Given the description of an element on the screen output the (x, y) to click on. 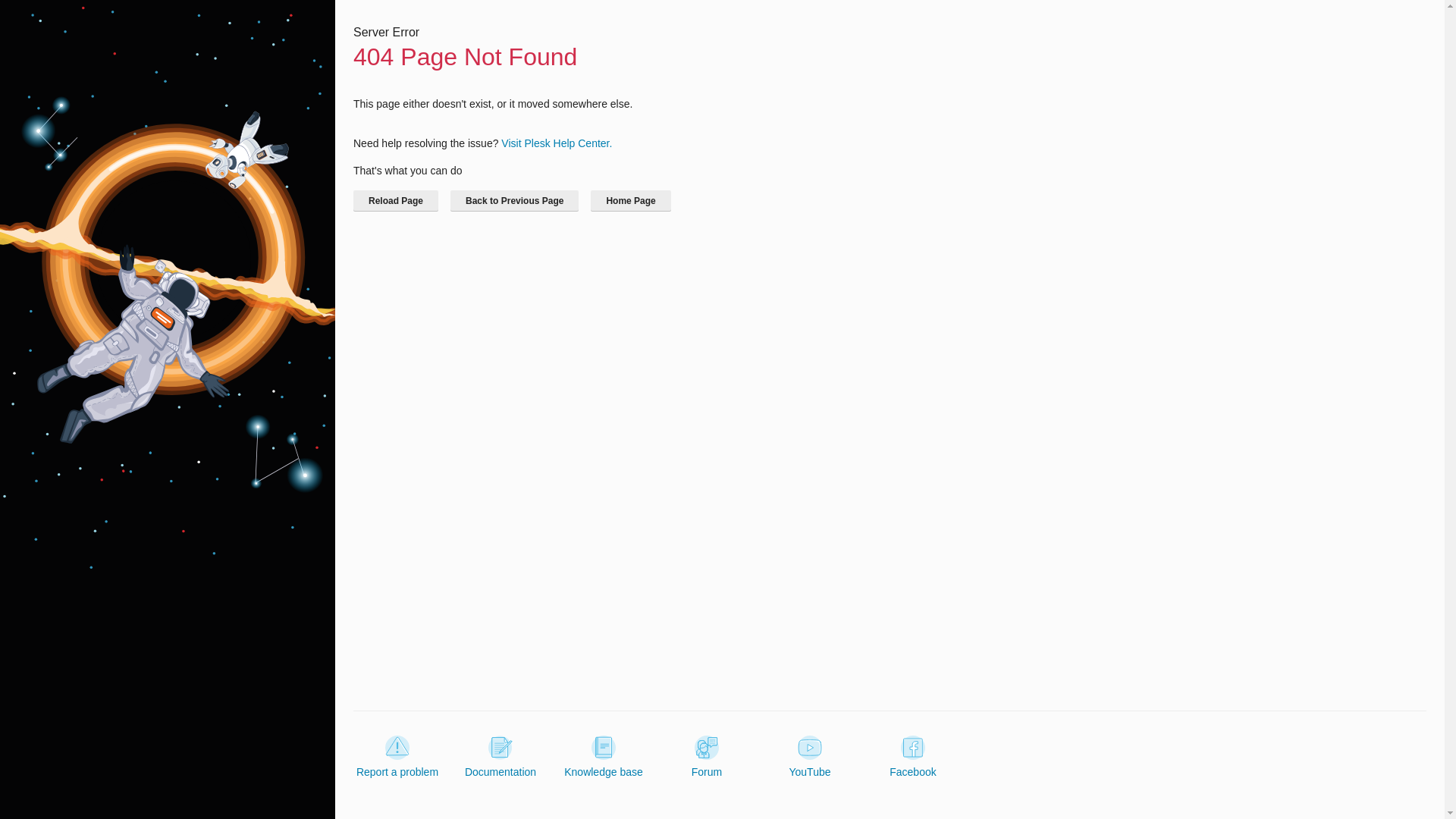
Back to Previous Page (513, 200)
Documentation (500, 757)
Facebook (912, 757)
YouTube (809, 757)
Knowledge base (603, 757)
Report a problem (397, 757)
Home Page (630, 200)
Visit Plesk Help Center. (555, 143)
Reload Page (395, 200)
Forum (706, 757)
